Given the description of an element on the screen output the (x, y) to click on. 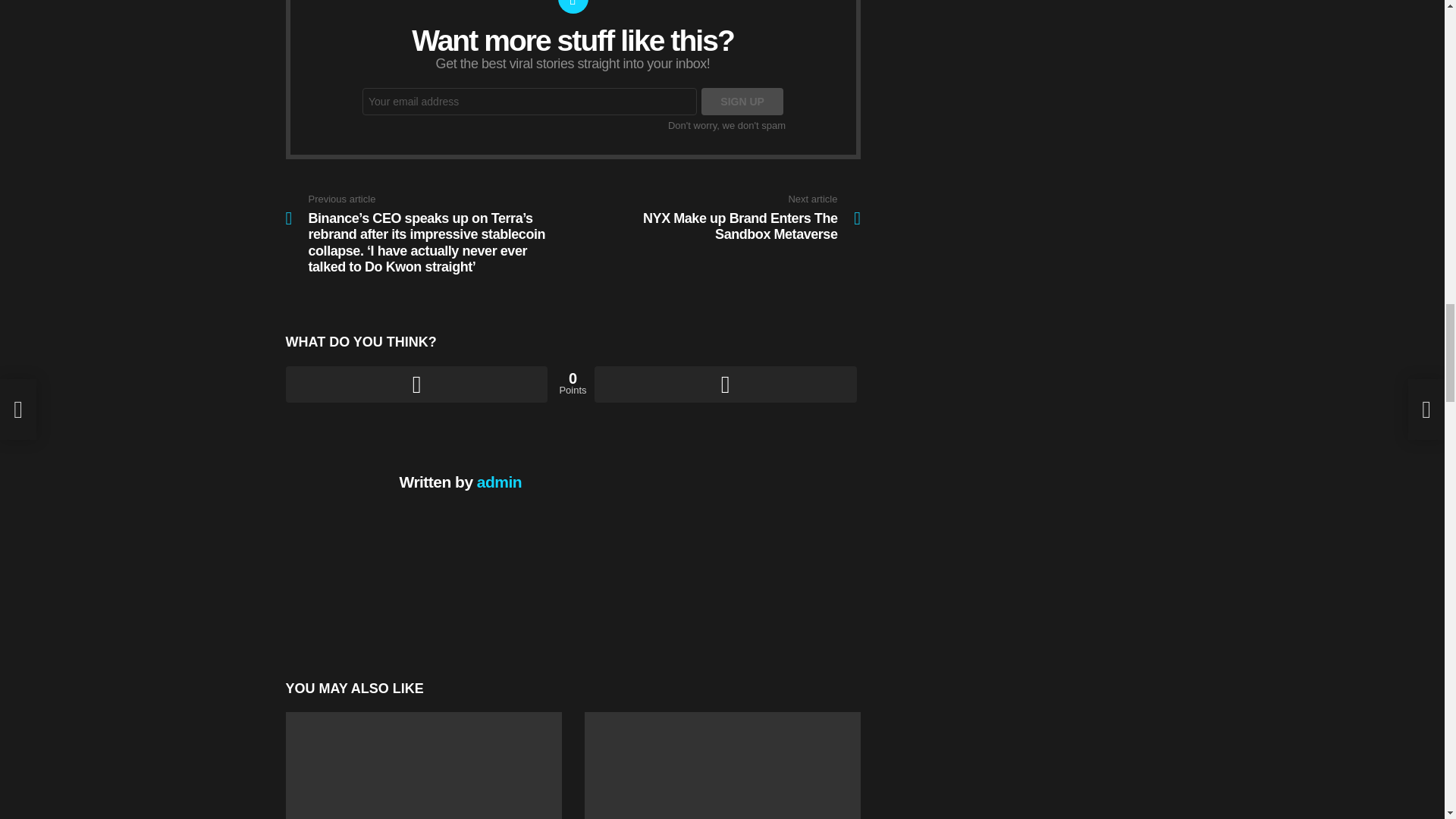
Sign up (742, 101)
admin (499, 481)
Bybit Exits French Market Amid New EU Crypto Regulations (422, 765)
Sign up (742, 101)
Upvote (416, 384)
Downvote (725, 384)
Upvote (416, 384)
Downvote (716, 218)
